Given the description of an element on the screen output the (x, y) to click on. 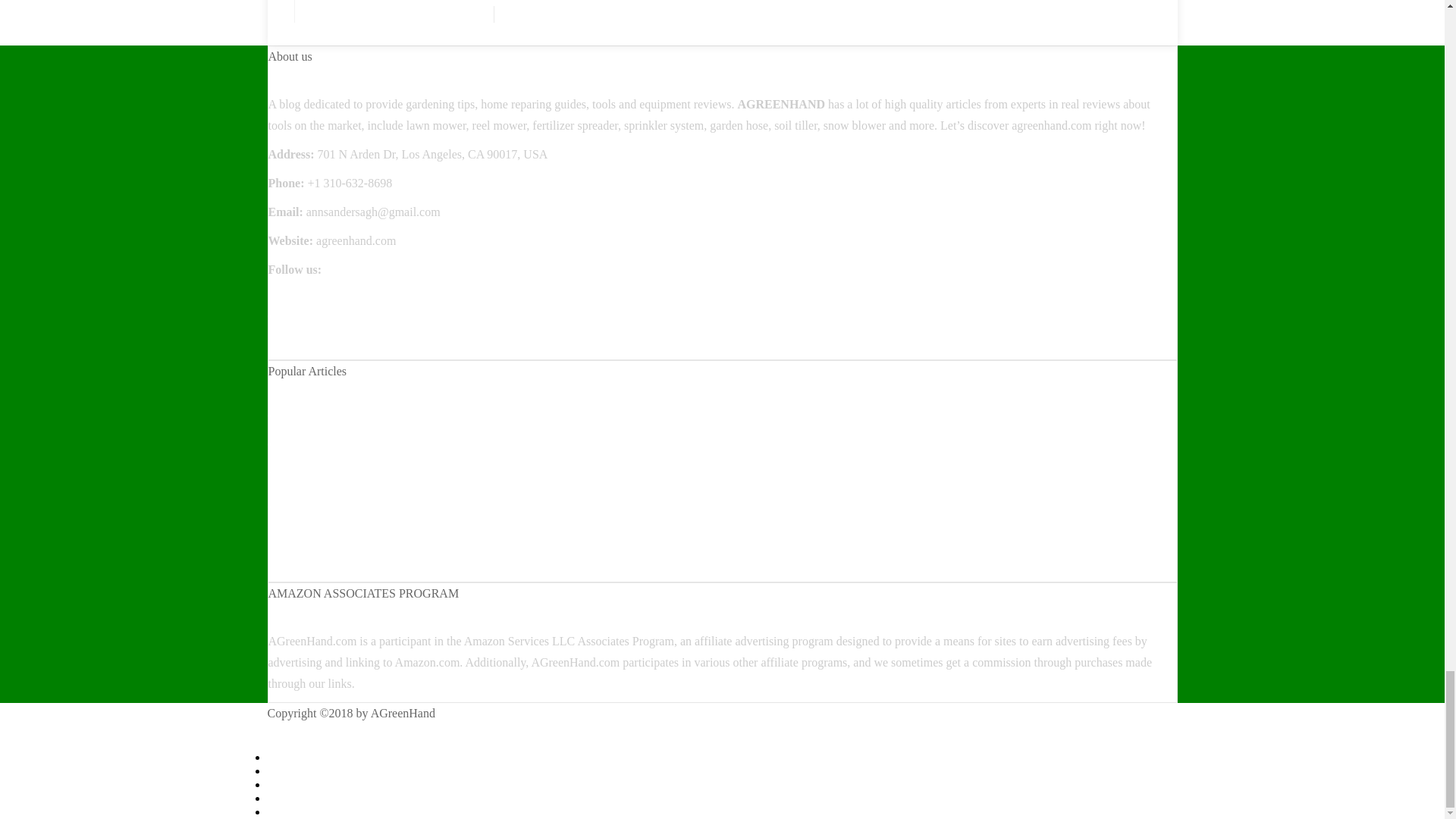
Facebook (291, 297)
Twitter (284, 318)
Top 5 Best Lawn Aerators For Breaking Down Compact Soil (415, 447)
Pinterest (289, 340)
Top 7 Best Corded Electric Lawn Mower Reviews In 2019 (410, 418)
